Given the description of an element on the screen output the (x, y) to click on. 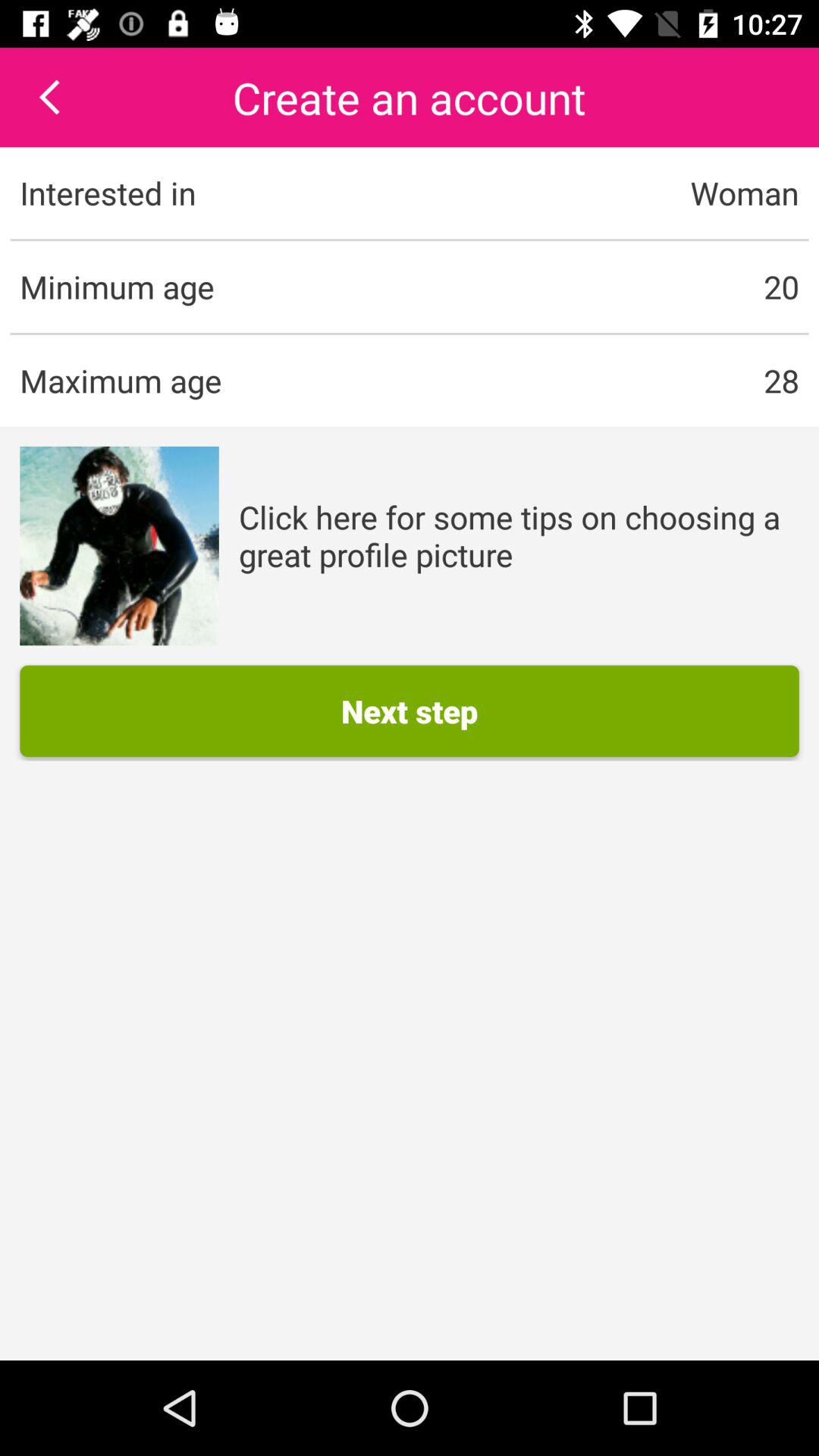
select the click here for item (518, 535)
